Given the description of an element on the screen output the (x, y) to click on. 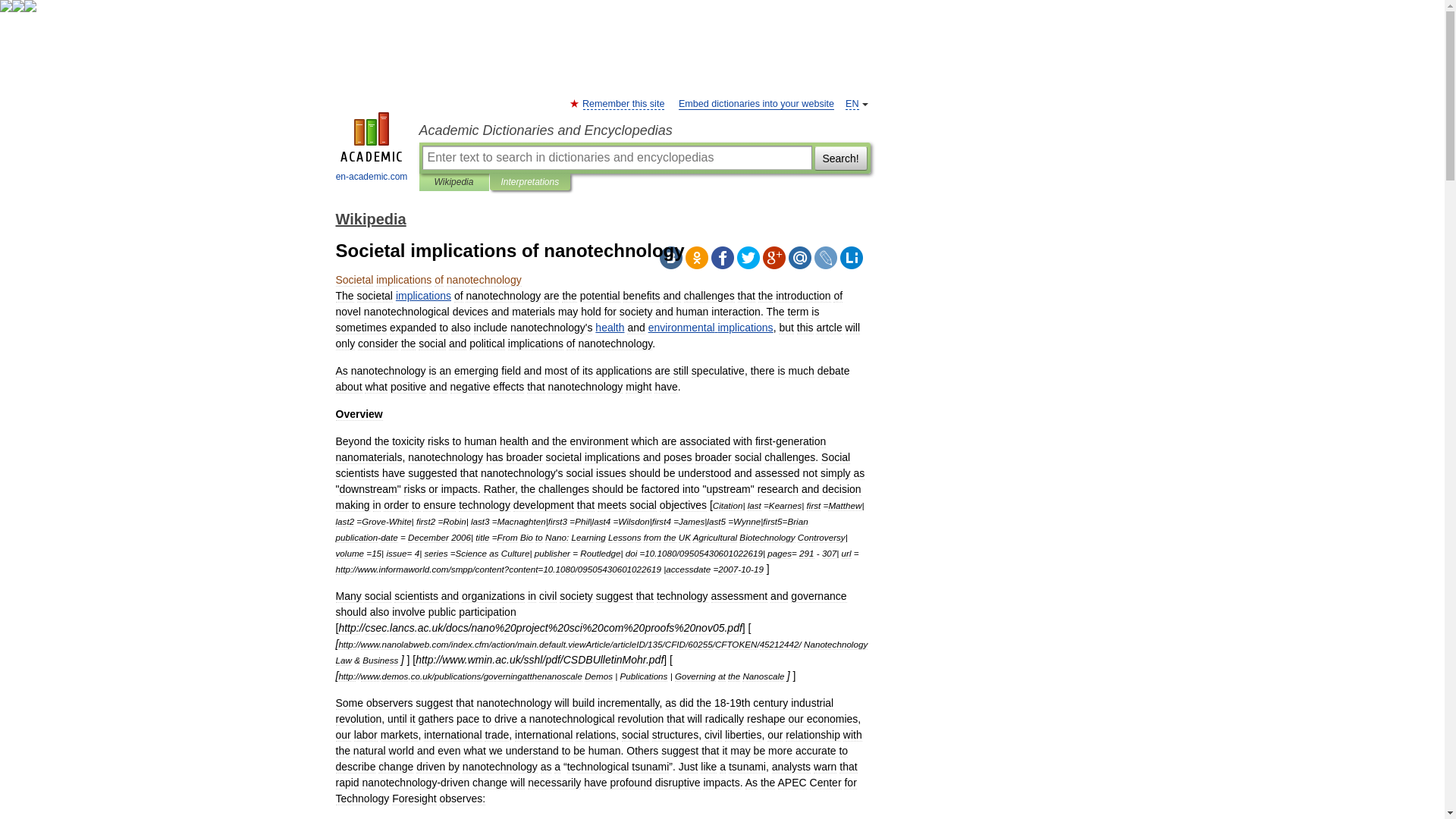
EN (852, 103)
implications (423, 295)
Remember this site (623, 103)
Wikipedia (370, 218)
Enter text to search in dictionaries and encyclopedias (616, 157)
Interpretations (529, 181)
Wikipedia (453, 181)
Embed dictionaries into your website (756, 103)
health (609, 327)
Academic Dictionaries and Encyclopedias (644, 130)
en-academic.com (371, 148)
Search! (840, 157)
environmental implications (710, 327)
